Given the description of an element on the screen output the (x, y) to click on. 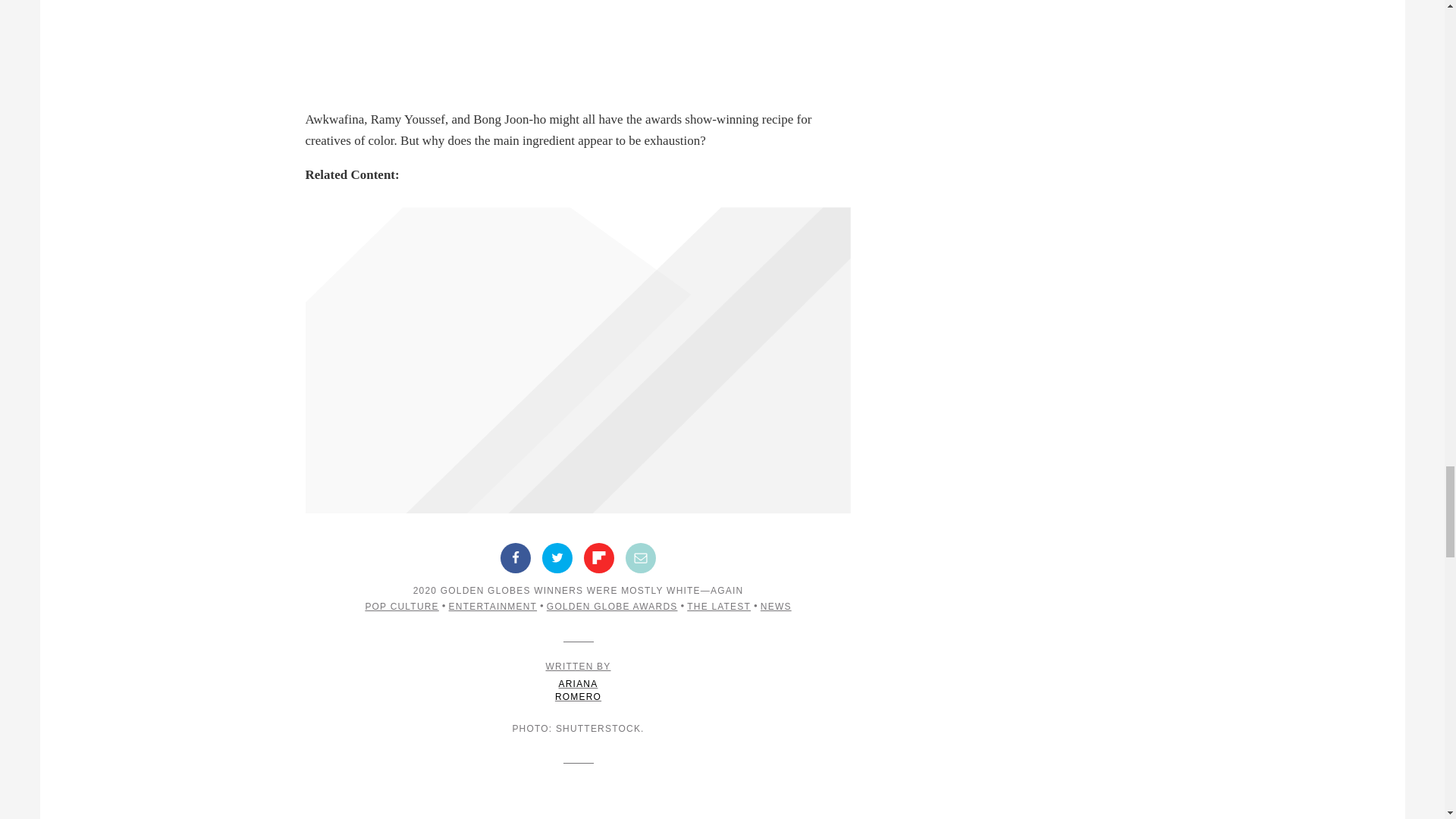
Share on Flipboard (598, 557)
Share on Twitter (556, 557)
Share by Email (641, 557)
Share on Facebook (515, 557)
